Given the description of an element on the screen output the (x, y) to click on. 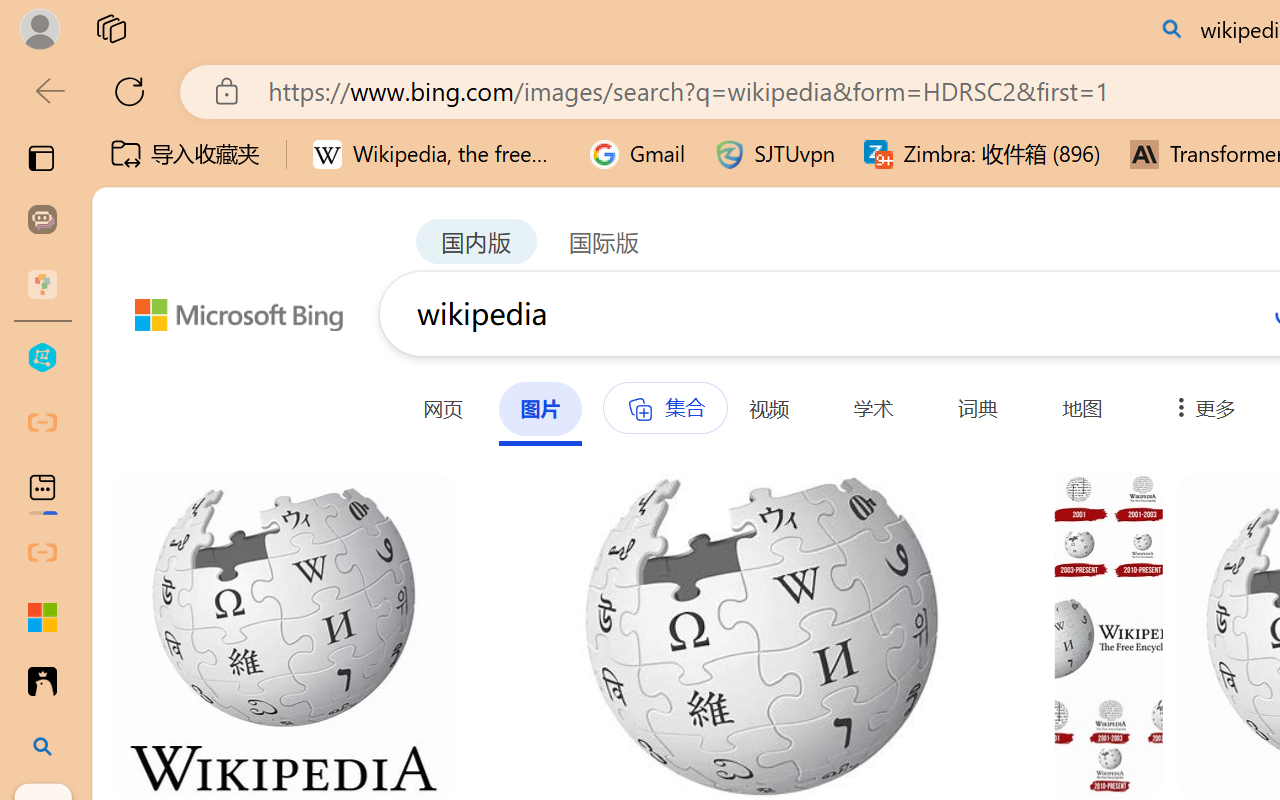
Screen Reader (805, 168)
